Given the description of an element on the screen output the (x, y) to click on. 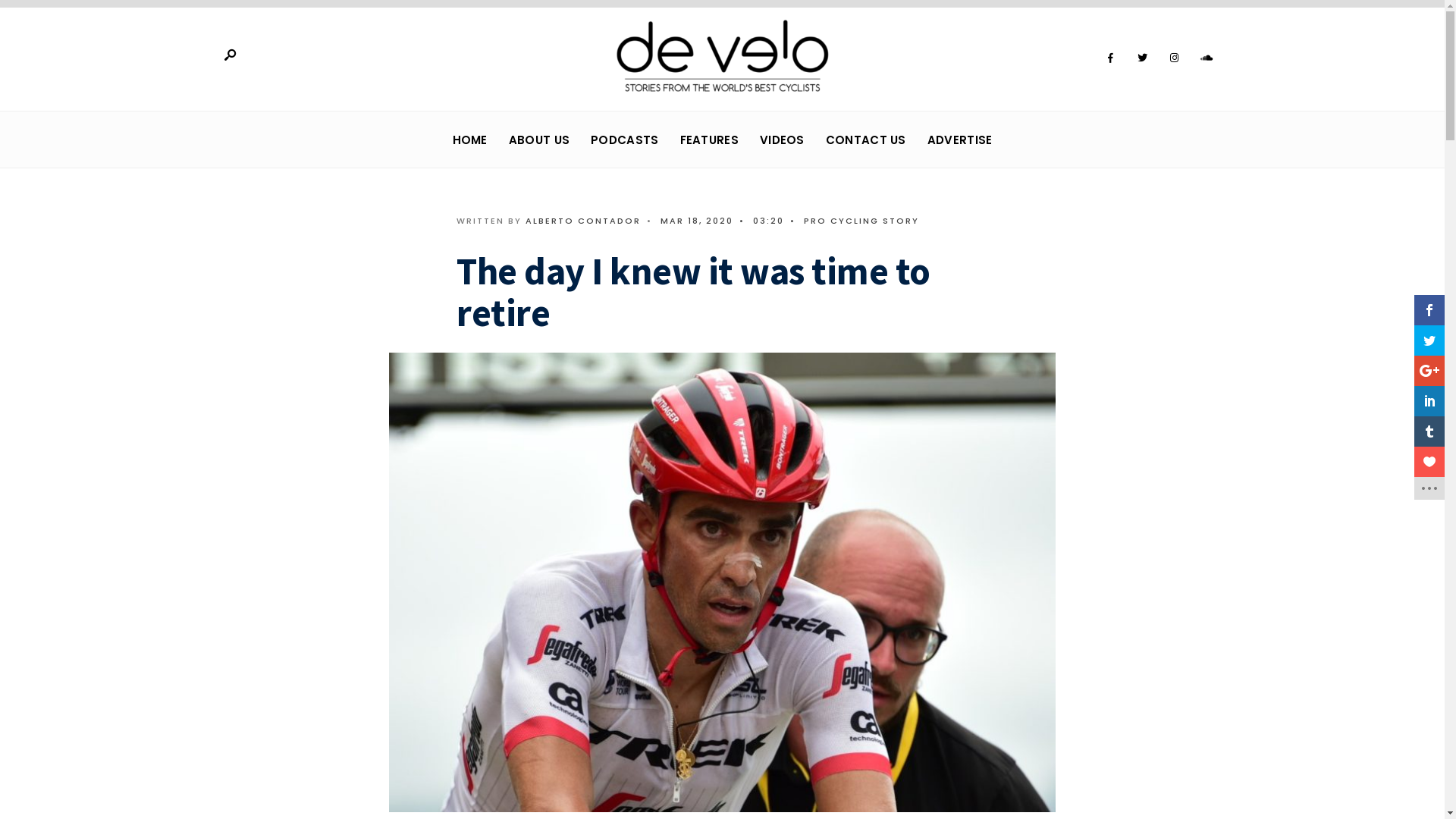
Instagram Element type: hover (1173, 58)
VIDEOS Element type: text (781, 139)
Facebook Element type: hover (1110, 58)
CONTACT US Element type: text (865, 139)
ABOUT US Element type: text (538, 139)
PRO CYCLING STORY Element type: text (861, 220)
ALBERTO CONTADOR Element type: text (582, 220)
SoundCloud Element type: hover (1205, 58)
HOME Element type: text (469, 139)
FEATURES Element type: text (709, 139)
Twitter Element type: hover (1141, 58)
ADVERTISE Element type: text (959, 139)
PODCASTS Element type: text (624, 139)
